Given the description of an element on the screen output the (x, y) to click on. 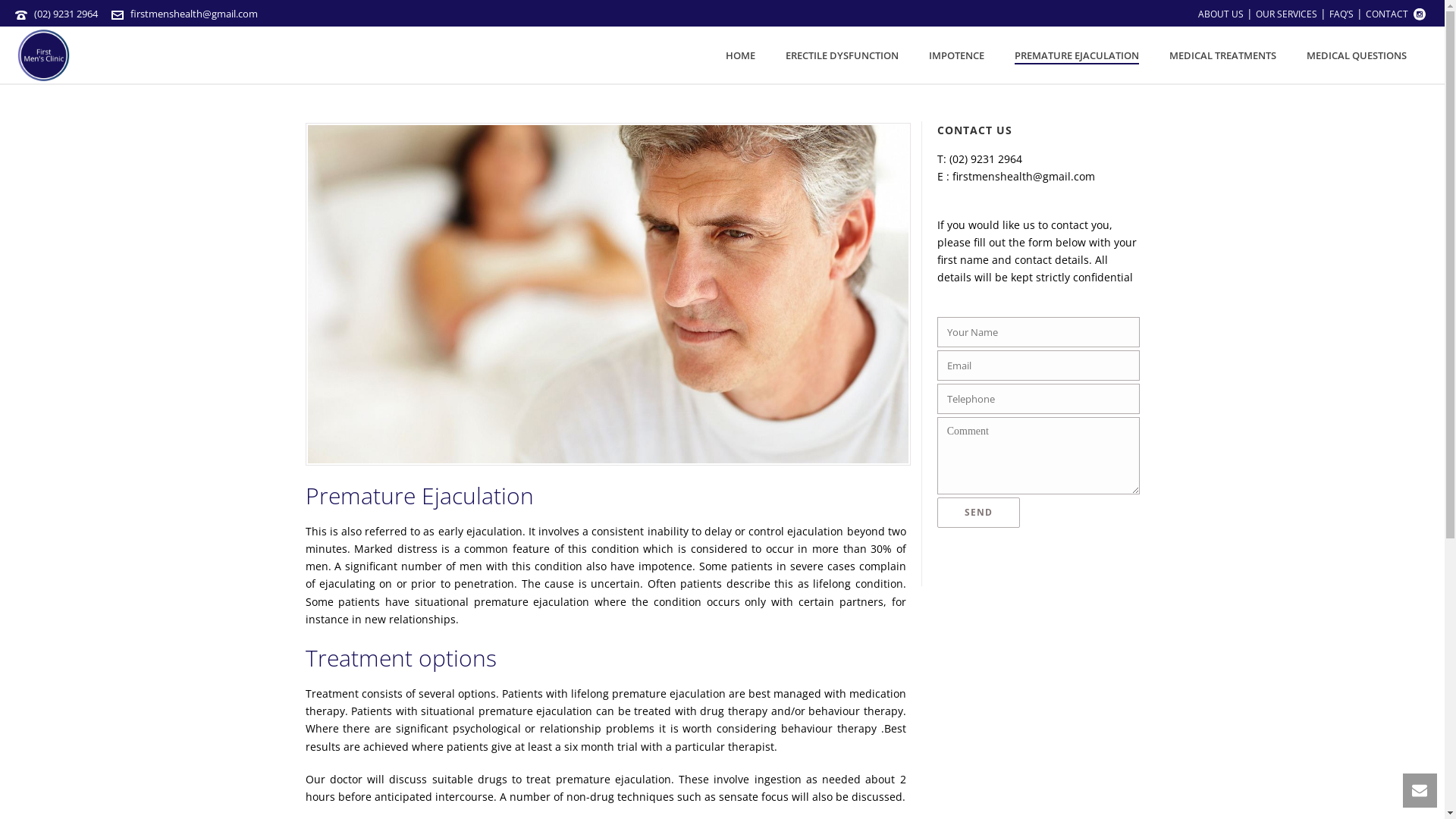
HOME Element type: text (740, 55)
IMPOTENCE Element type: text (956, 55)
CONTACT Element type: text (1386, 13)
Send Element type: text (978, 512)
firstmenshealth@gmail.com Element type: text (193, 13)
(02) 9231 2964 Element type: text (65, 13)
MEDICAL QUESTIONS Element type: text (1356, 55)
ERECTILE DYSFUNCTION Element type: text (841, 55)
firstmenshealth@gmail.com Element type: text (1023, 176)
MEDICAL TREATMENTS Element type: text (1222, 55)
ABOUT US Element type: text (1220, 13)
PREMATURE EJACULATION Element type: text (1076, 55)
(02) 9231 2964 Element type: text (985, 158)
OUR SERVICES Element type: text (1286, 13)
